Given the description of an element on the screen output the (x, y) to click on. 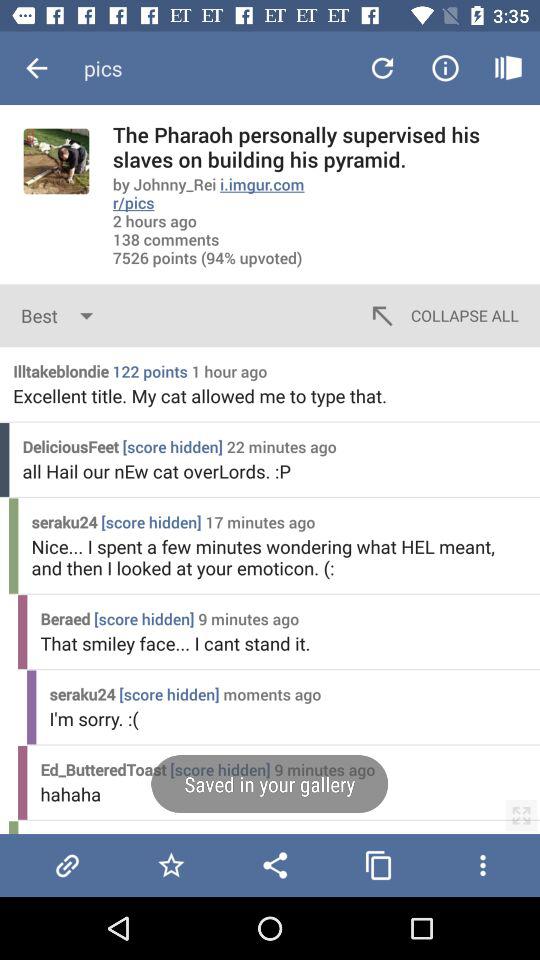
go to garry (67, 865)
